Given the description of an element on the screen output the (x, y) to click on. 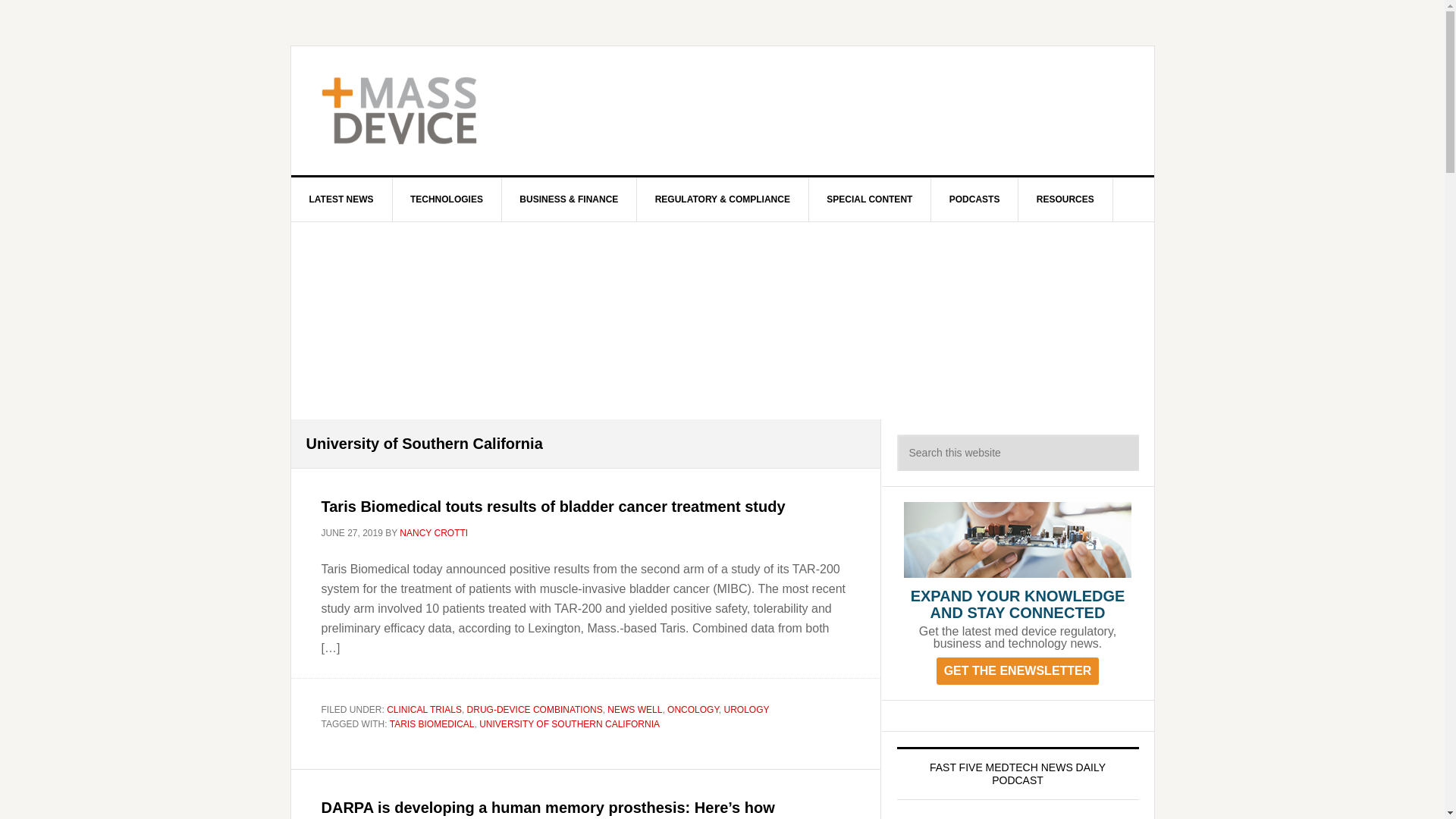
3rd party ad content (848, 110)
PODCASTS (975, 199)
MASSDEVICE (419, 110)
LATEST NEWS (342, 199)
TECHNOLOGIES (446, 199)
SPECIAL CONTENT (869, 199)
